Given the description of an element on the screen output the (x, y) to click on. 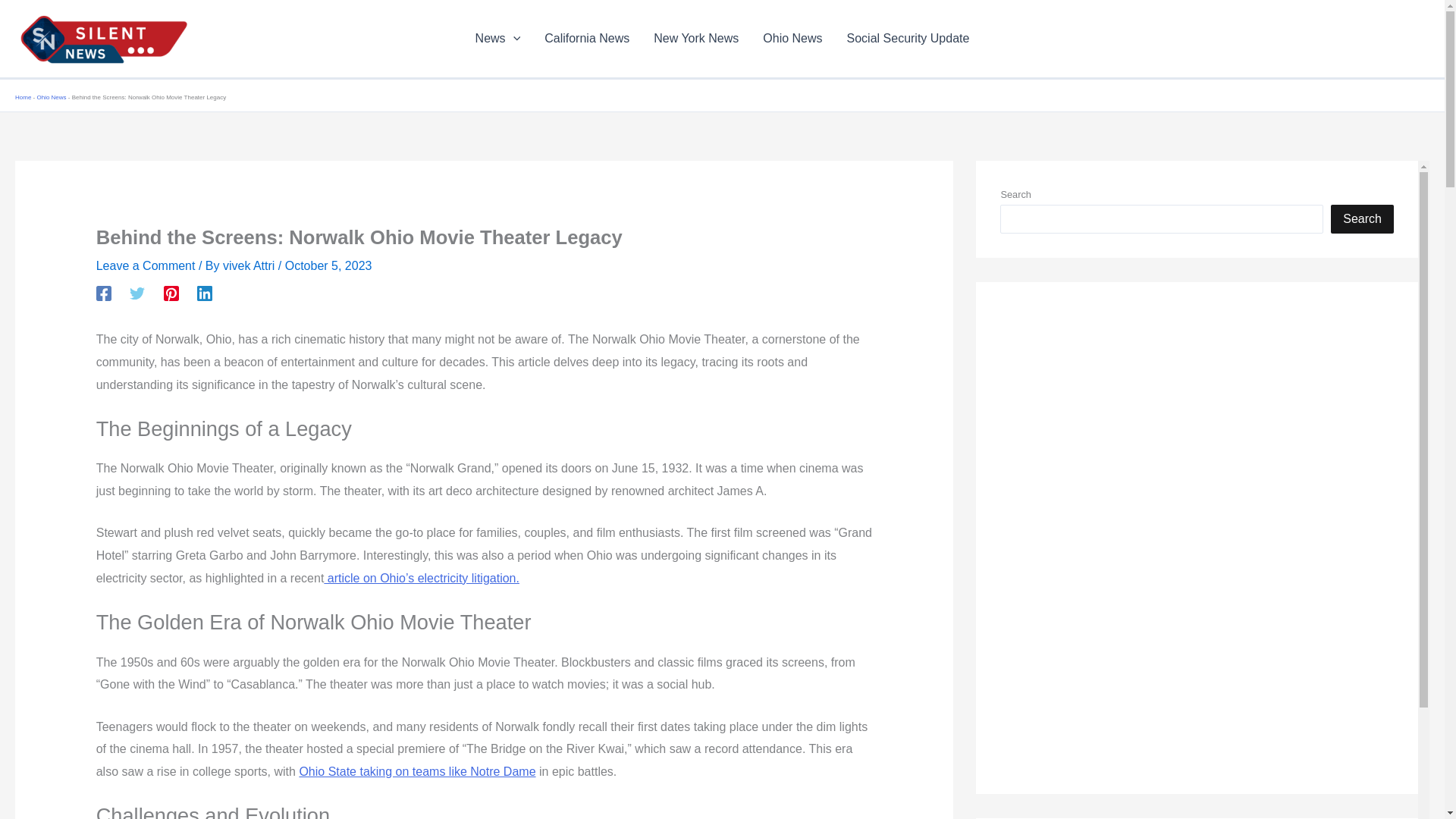
Ohio State taking on teams like Notre Dame (416, 771)
Social Security Update (907, 38)
California News (587, 38)
Home (22, 97)
vivek Attri (250, 265)
View all posts by vivek Attri (250, 265)
Leave a Comment (145, 265)
Ohio News (792, 38)
Ohio News (50, 97)
New York News (696, 38)
